Given the description of an element on the screen output the (x, y) to click on. 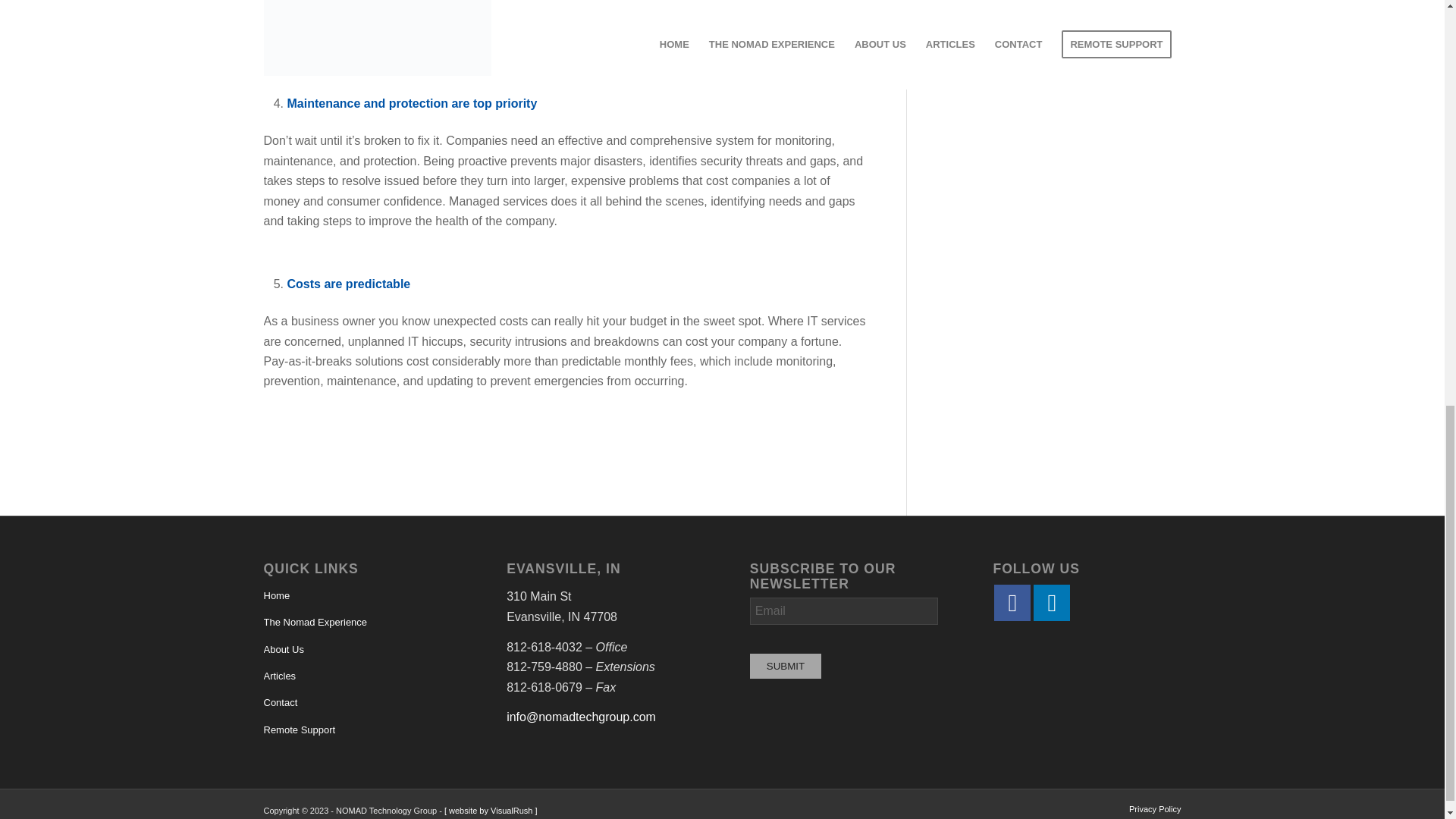
linkedin (1051, 602)
About Us (357, 650)
linkedin (1052, 602)
Contact (357, 703)
The Nomad Experience (357, 622)
facebook (1012, 602)
facebook (1013, 602)
Privacy Policy (1154, 809)
Articles (357, 676)
Submit (785, 665)
Submit (785, 665)
Remote Support (357, 730)
Home (357, 596)
